Given the description of an element on the screen output the (x, y) to click on. 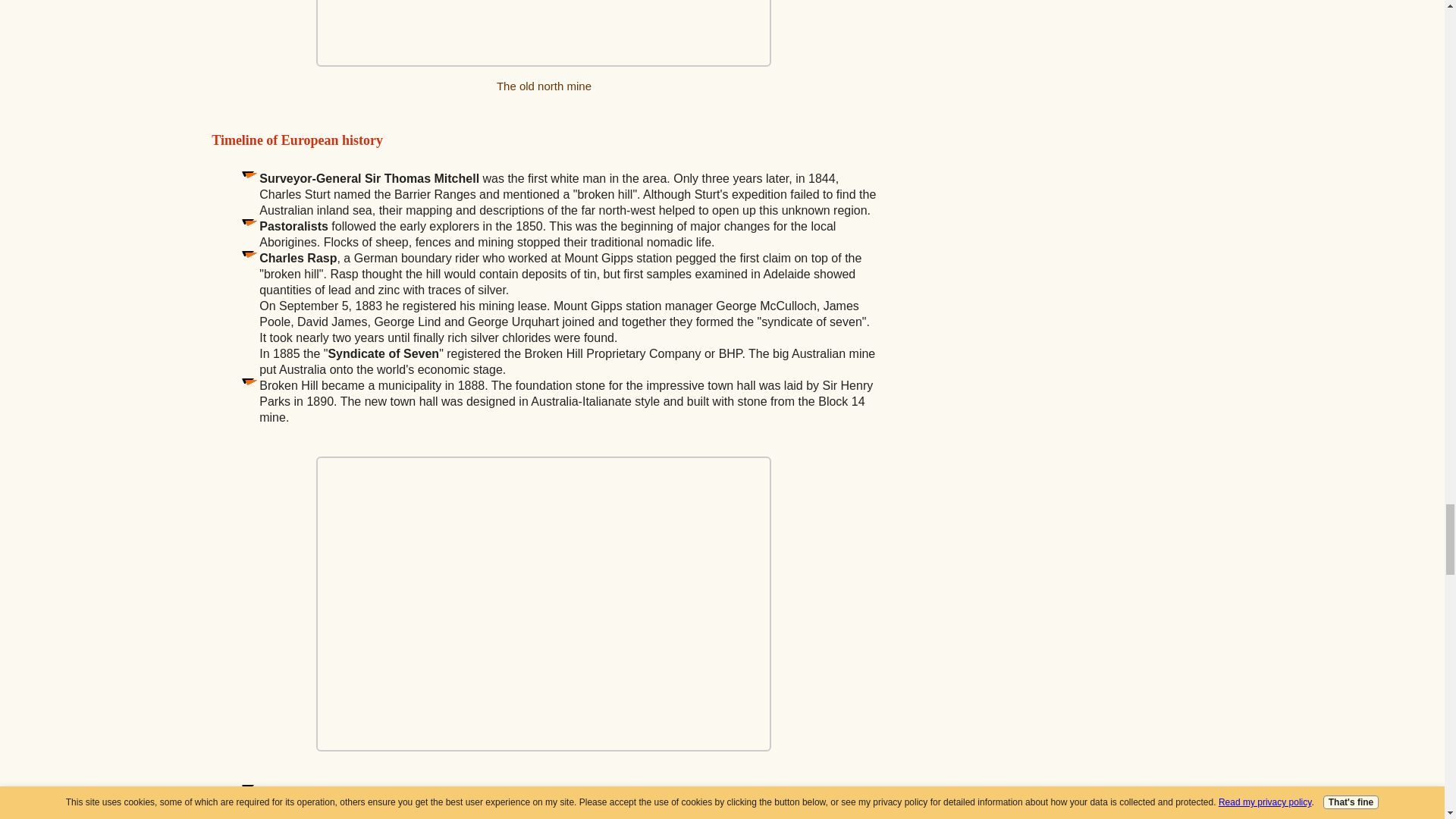
The old north mine seen from the Junction mine (543, 33)
